Given the description of an element on the screen output the (x, y) to click on. 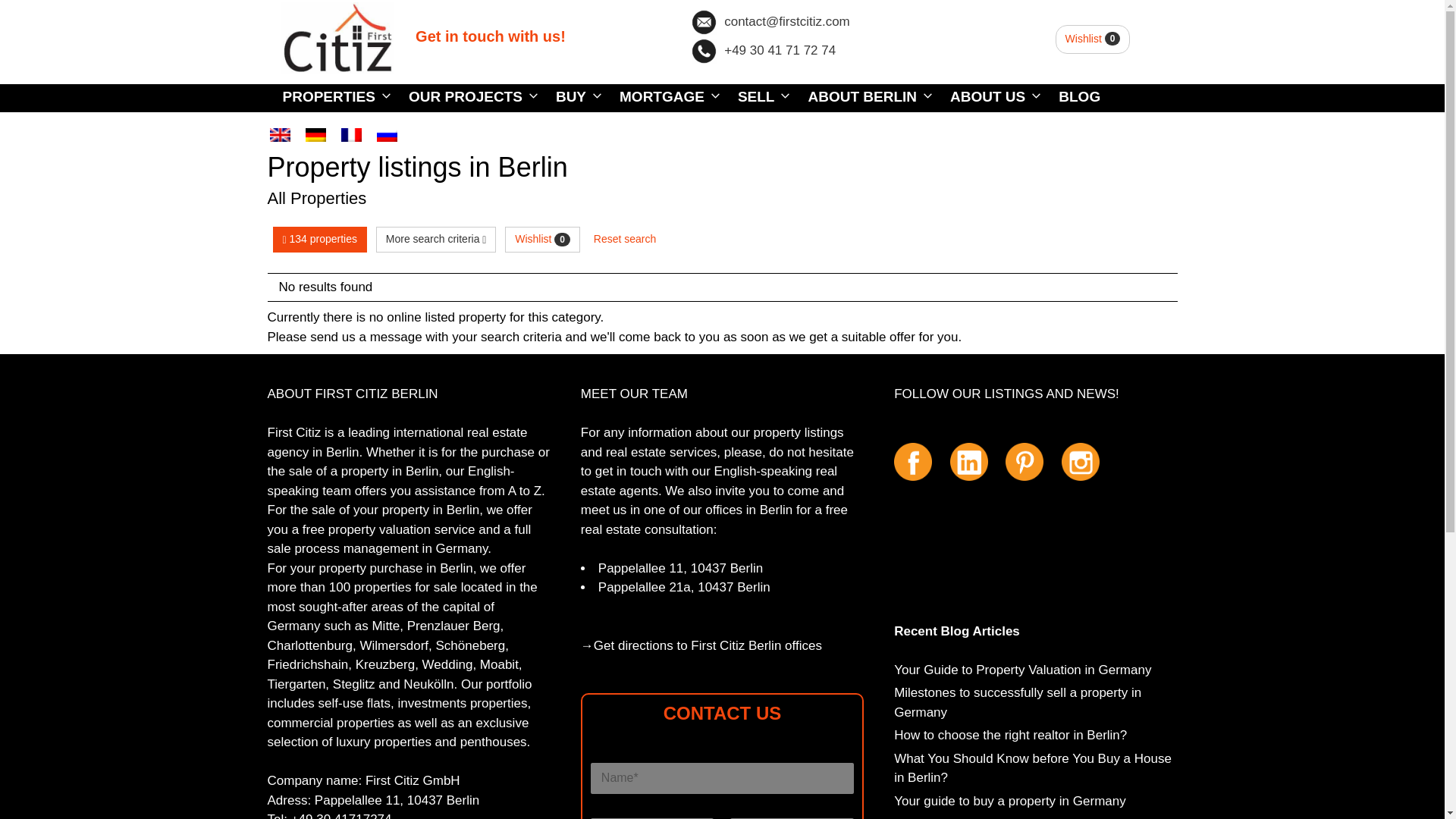
ABOUT US (988, 96)
Wishlist 0 (1093, 39)
BUY (572, 96)
OUR PROJECTS (466, 96)
SELL (757, 96)
PROPERTIES (329, 96)
ABOUT BERLIN (863, 96)
MORTGAGE (663, 96)
